Given the description of an element on the screen output the (x, y) to click on. 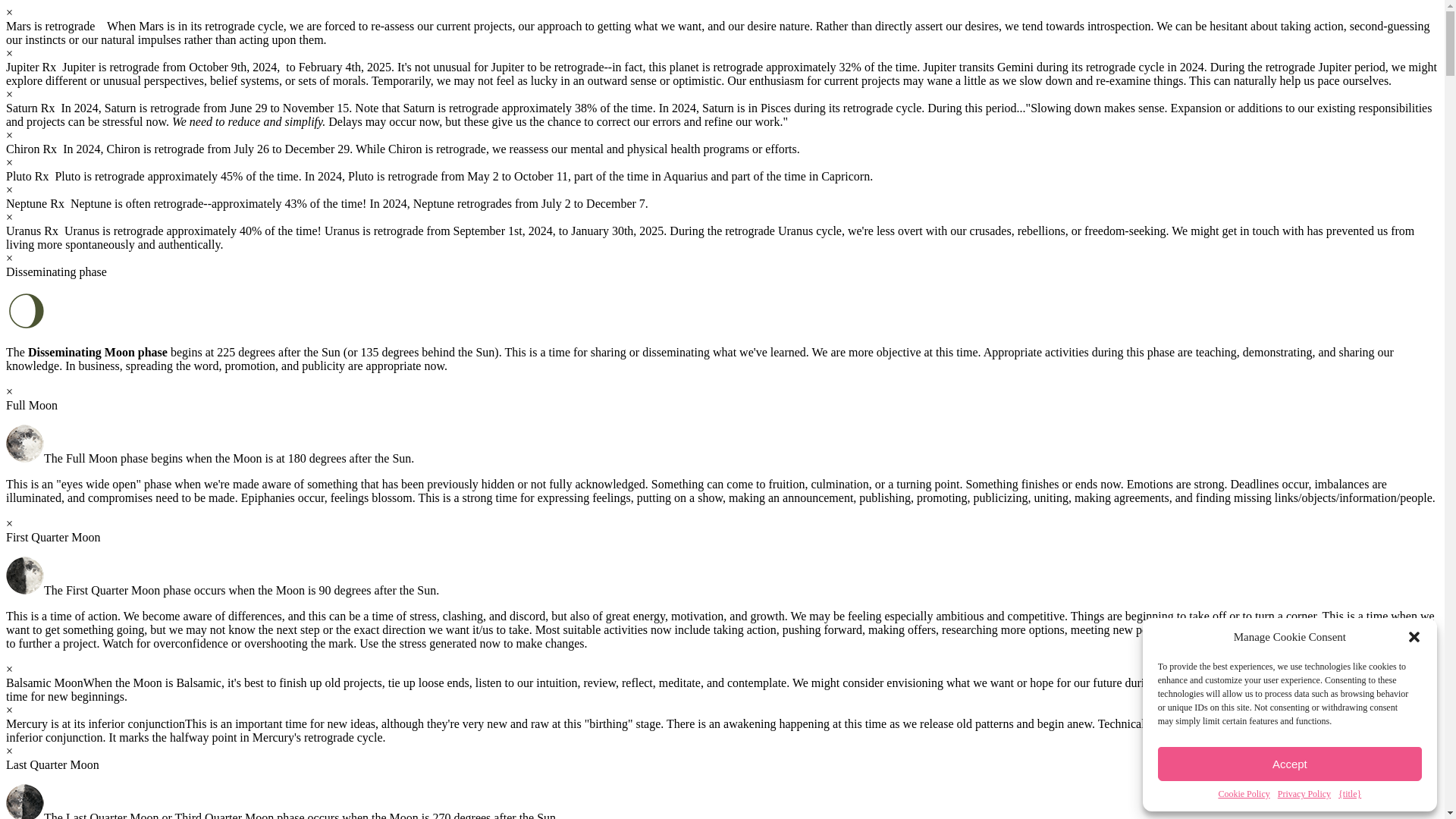
Privacy Policy (1304, 794)
Accept (1289, 763)
Cookie Policy (1243, 794)
